Given the description of an element on the screen output the (x, y) to click on. 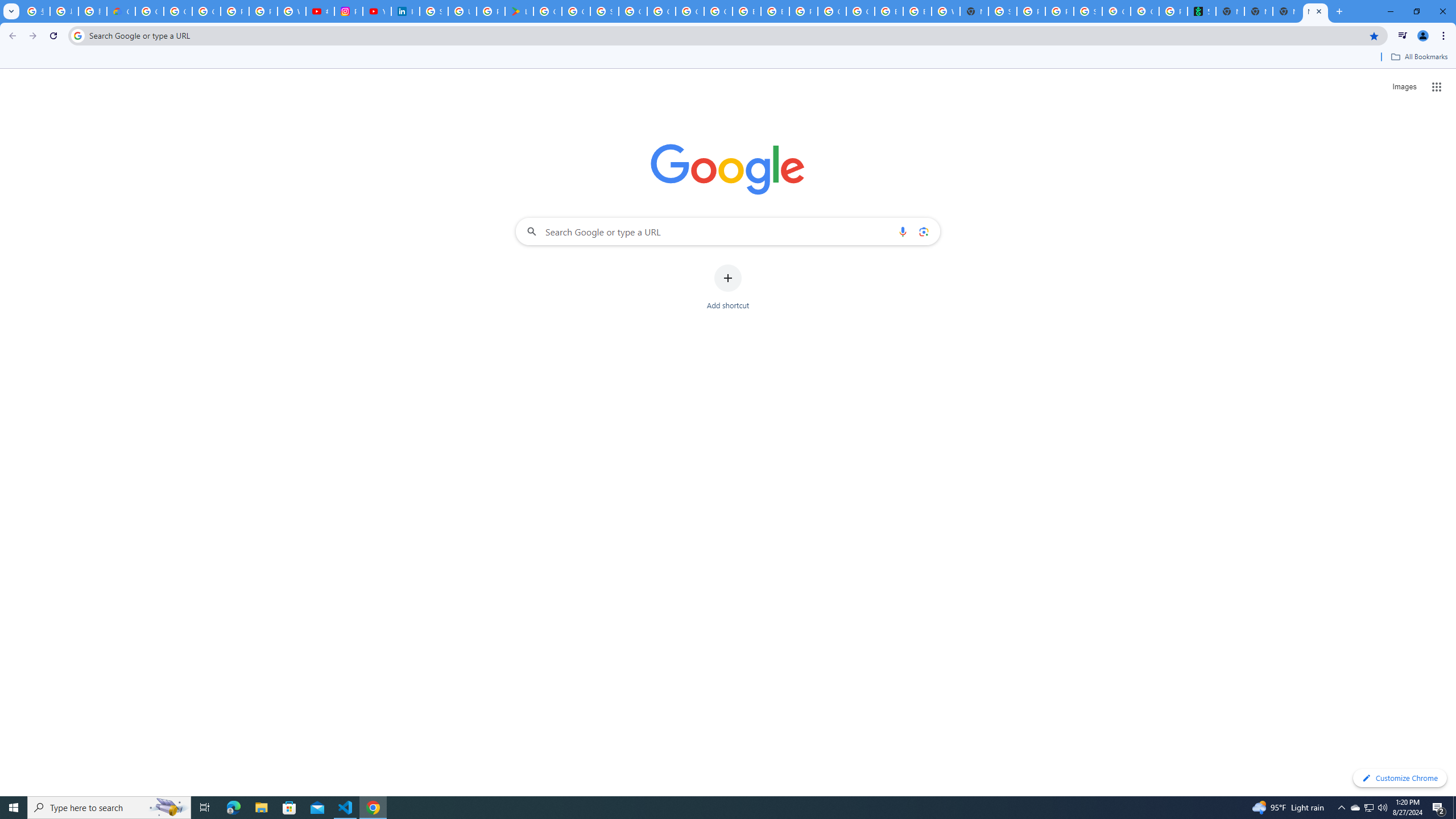
New Tab (973, 11)
Google Cloud Platform (831, 11)
